Given the description of an element on the screen output the (x, y) to click on. 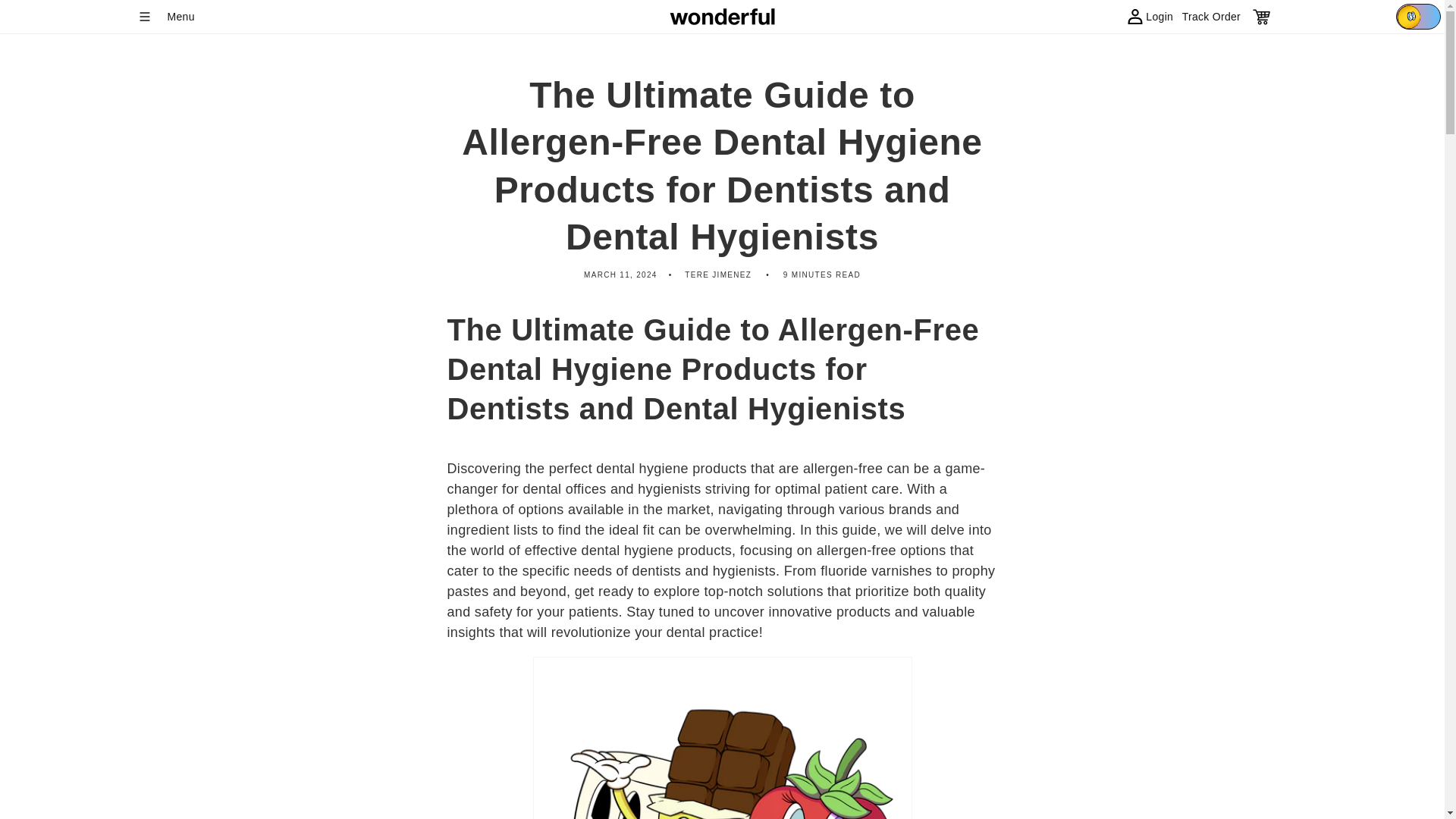
Skip to content (22, 17)
Track Order (1211, 16)
